Given the description of an element on the screen output the (x, y) to click on. 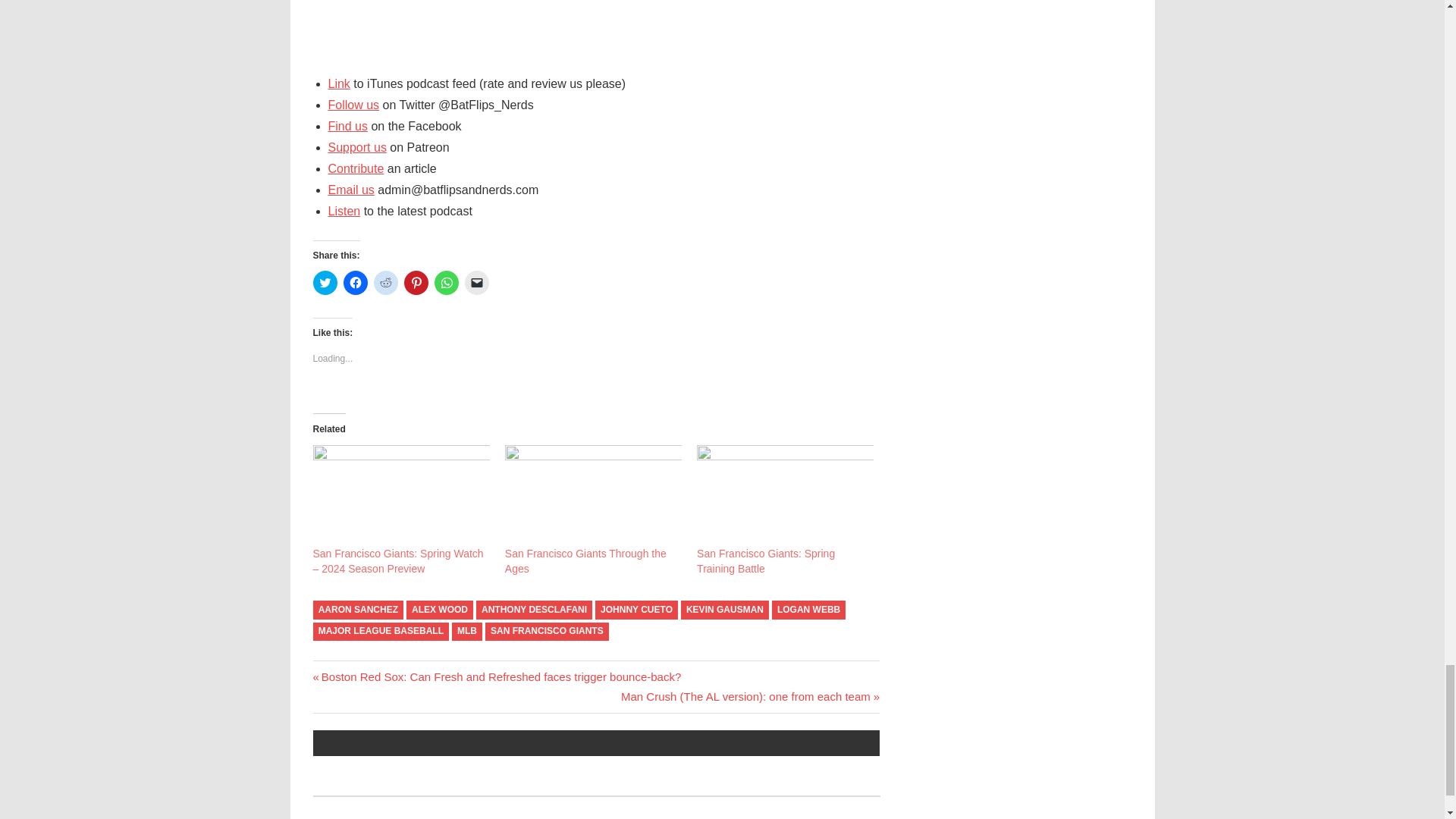
San Francisco Giants Through the Ages (593, 495)
Click to share on Twitter (324, 282)
Click to email a link to a friend (475, 282)
San Francisco Giants: Spring Training Battle (785, 495)
San Francisco Giants Through the Ages (585, 560)
Click to share on Reddit (384, 282)
Click to share on WhatsApp (445, 282)
Click to share on Facebook (354, 282)
Click to share on Pinterest (415, 282)
